Given the description of an element on the screen output the (x, y) to click on. 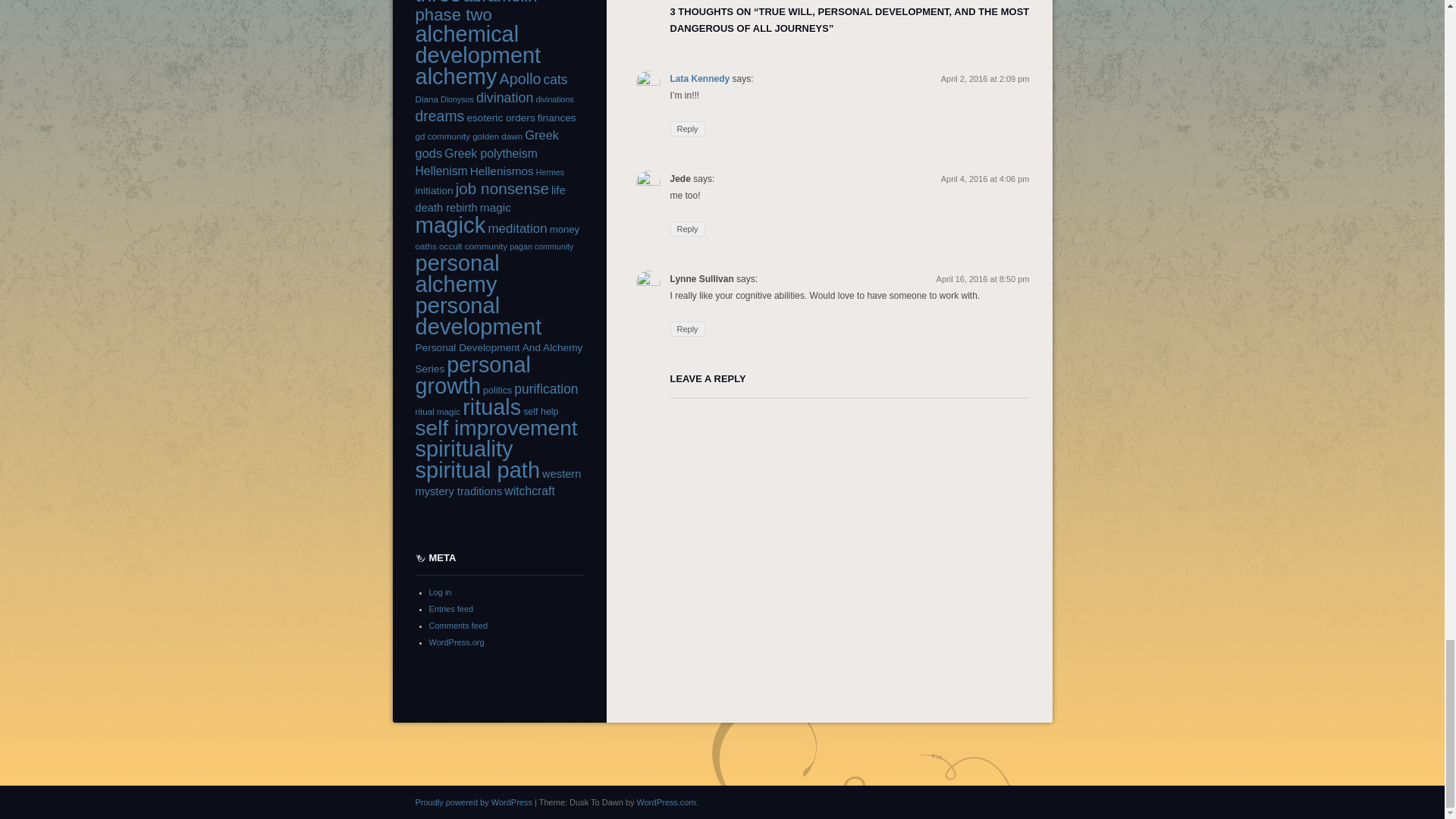
Lata Kennedy (699, 78)
April 16, 2016 at 8:50 pm (982, 278)
April 4, 2016 at 4:06 pm (984, 178)
Reply (686, 128)
A Semantic Personal Publishing Platform (473, 800)
Reply (686, 228)
Reply (686, 328)
April 2, 2016 at 2:09 pm (984, 78)
